Given the description of an element on the screen output the (x, y) to click on. 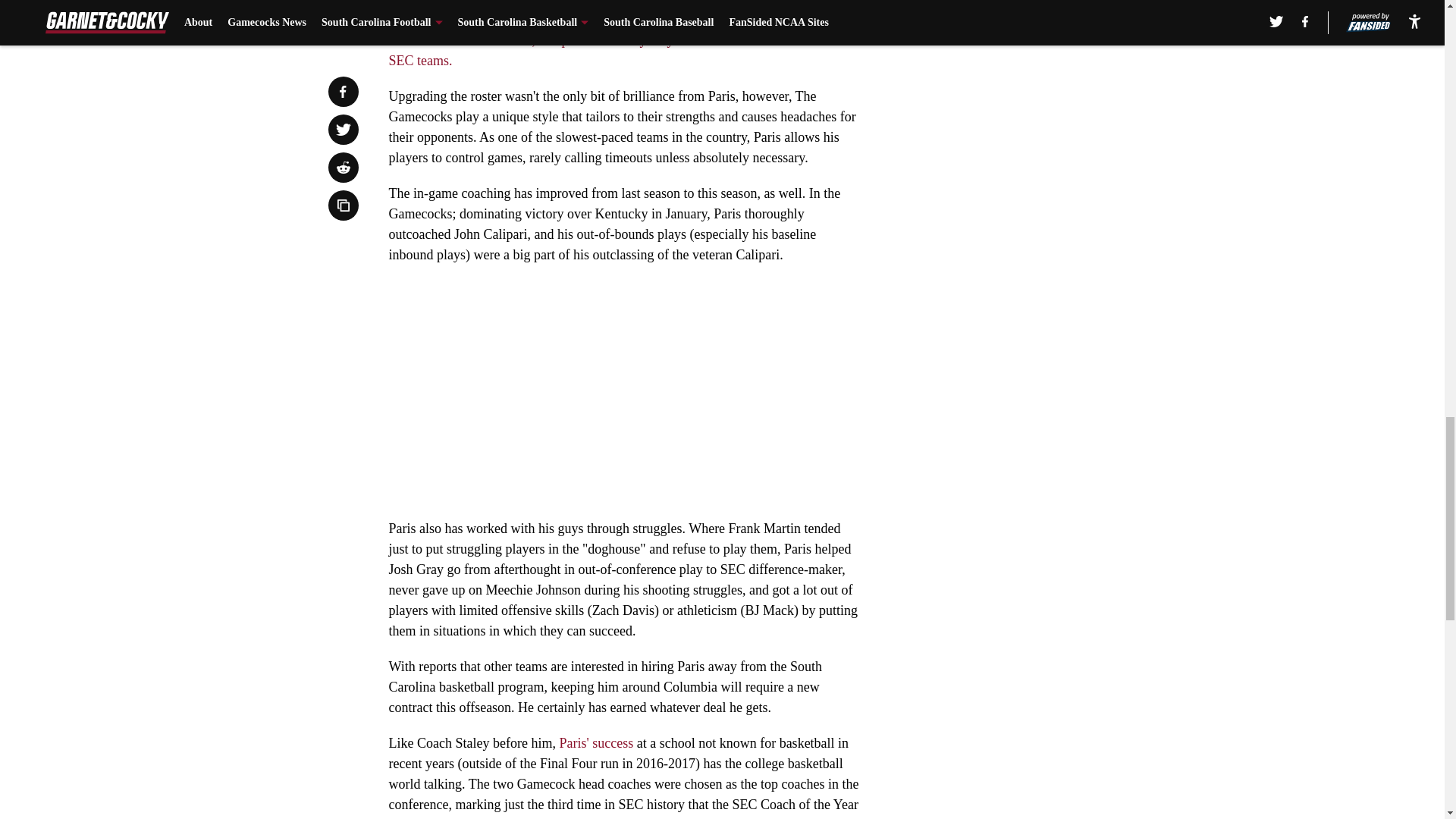
Paris' success (596, 743)
